Given the description of an element on the screen output the (x, y) to click on. 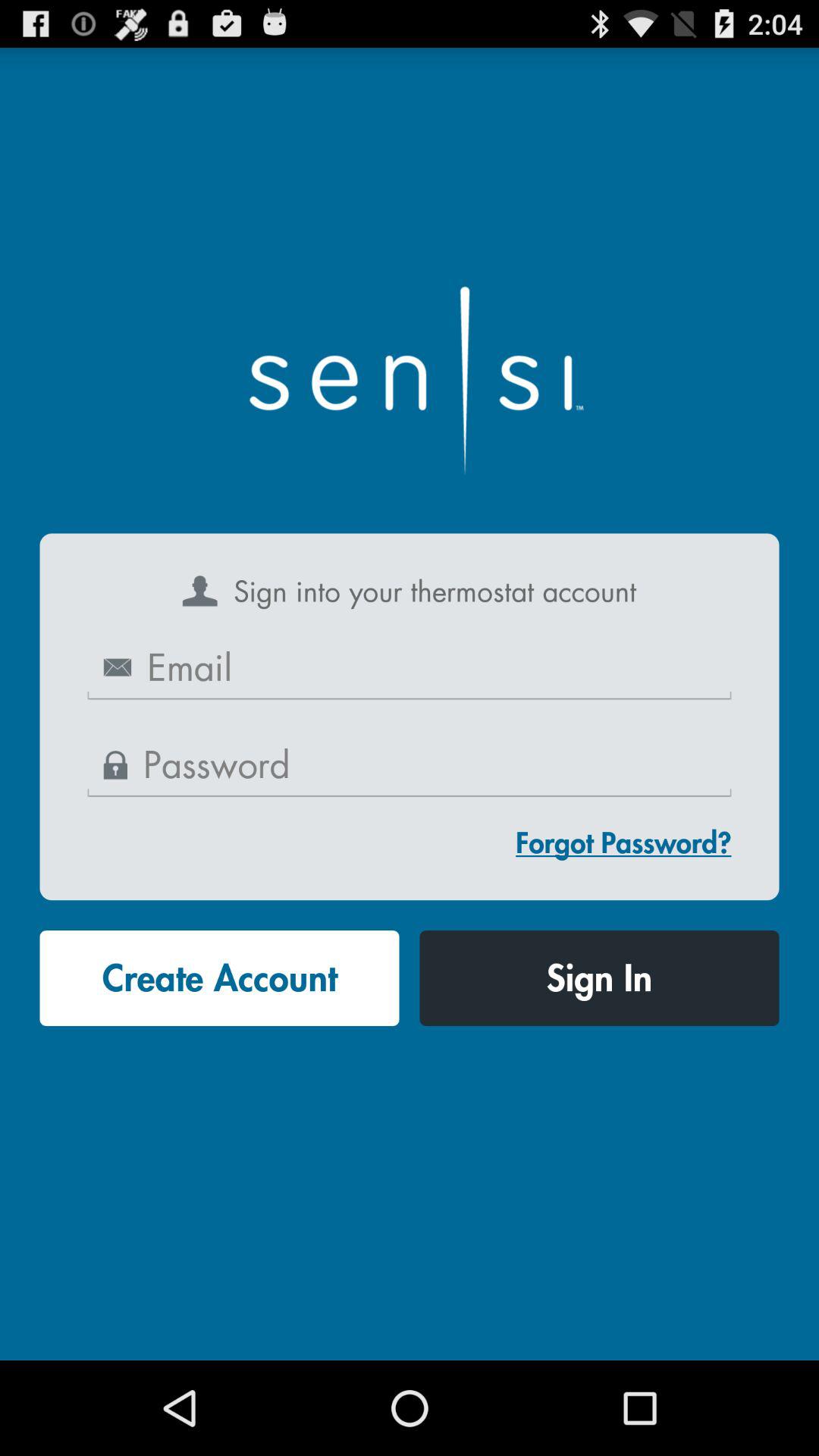
enter email (409, 668)
